Given the description of an element on the screen output the (x, y) to click on. 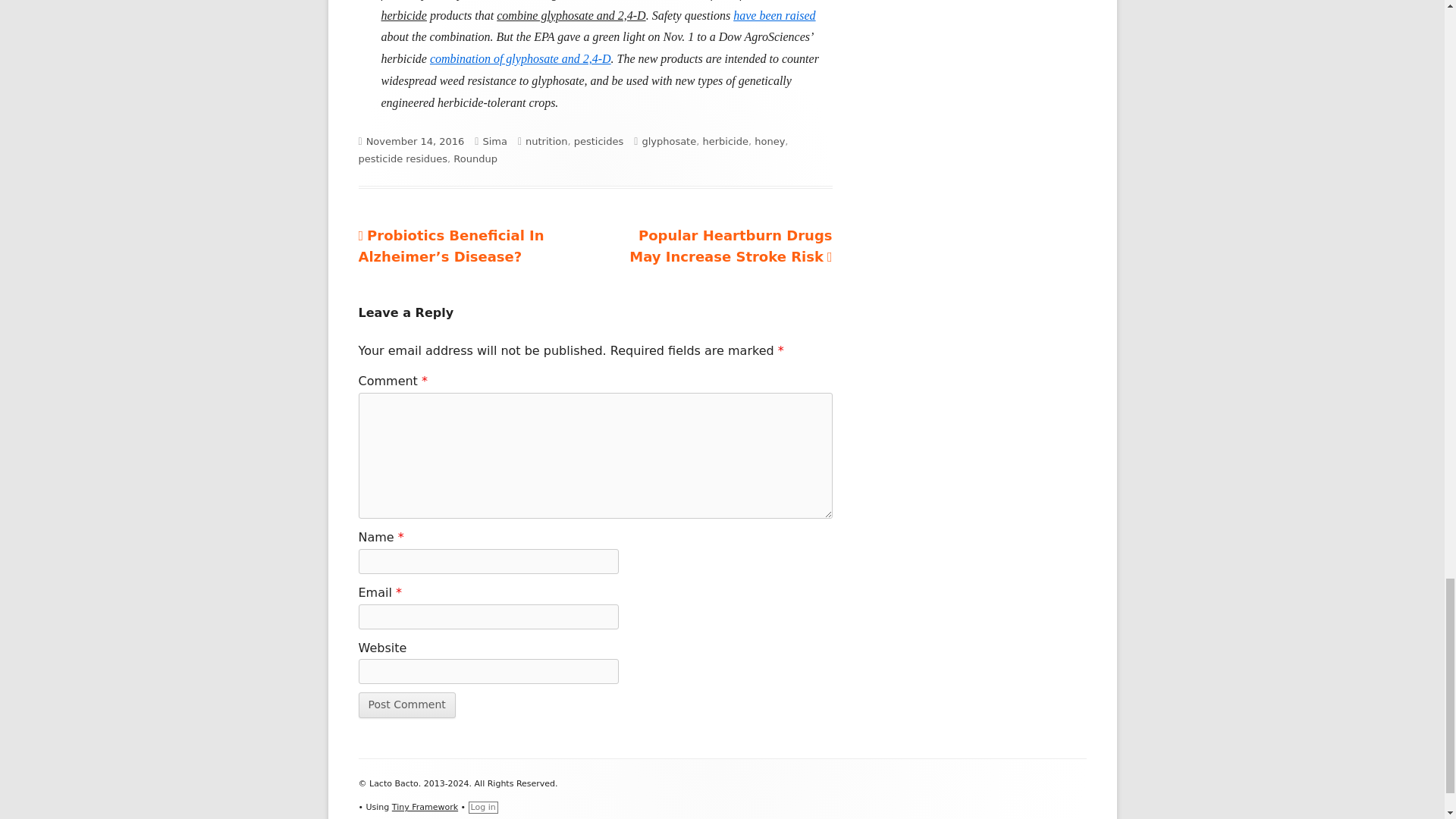
Sima (493, 141)
combination of glyphosate and 2,4-D (520, 58)
glyphosate (668, 141)
honey (769, 141)
herbicide (724, 141)
pesticide residues (402, 158)
have been raised (774, 15)
November 14, 2016 (415, 141)
nutrition (546, 141)
pesticides (598, 141)
Post Comment (406, 705)
